Given the description of an element on the screen output the (x, y) to click on. 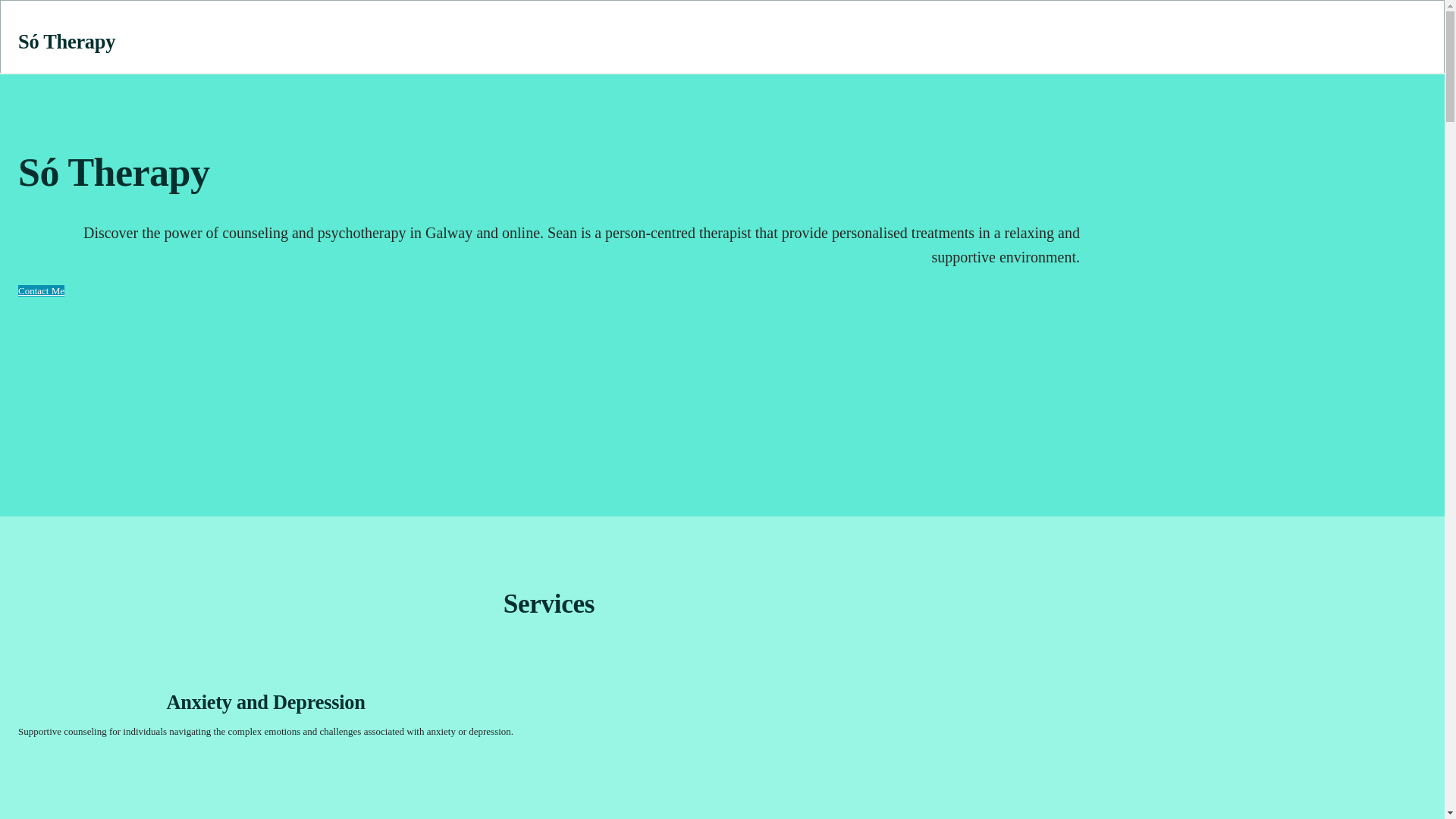
Contact Me (40, 290)
